Given the description of an element on the screen output the (x, y) to click on. 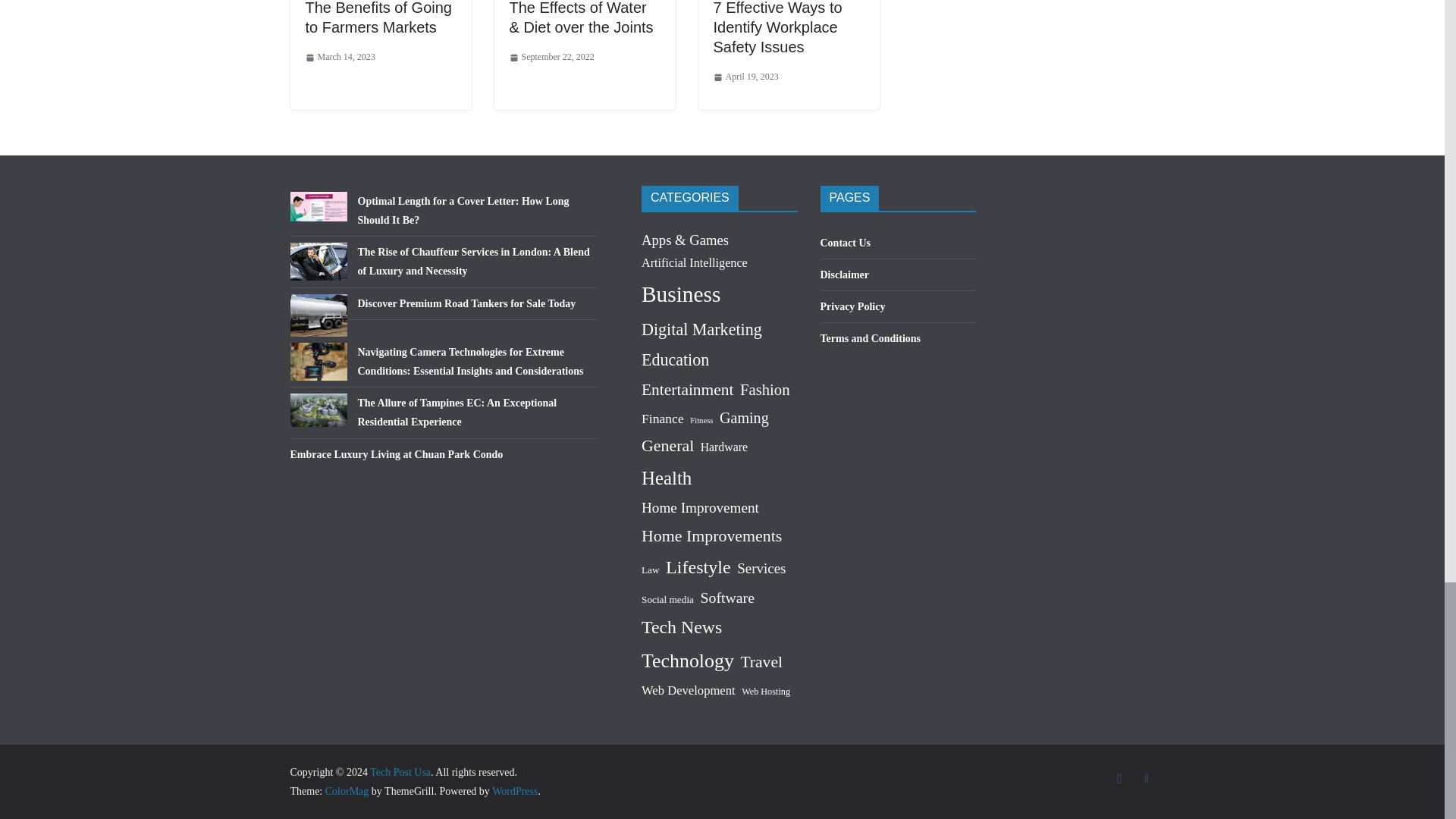
The Benefits of Going to Farmers Markets (377, 18)
8:40 PM (339, 57)
5:18 PM (551, 57)
The Benefits of Going to Farmers Markets (377, 18)
March 14, 2023 (339, 57)
